Given the description of an element on the screen output the (x, y) to click on. 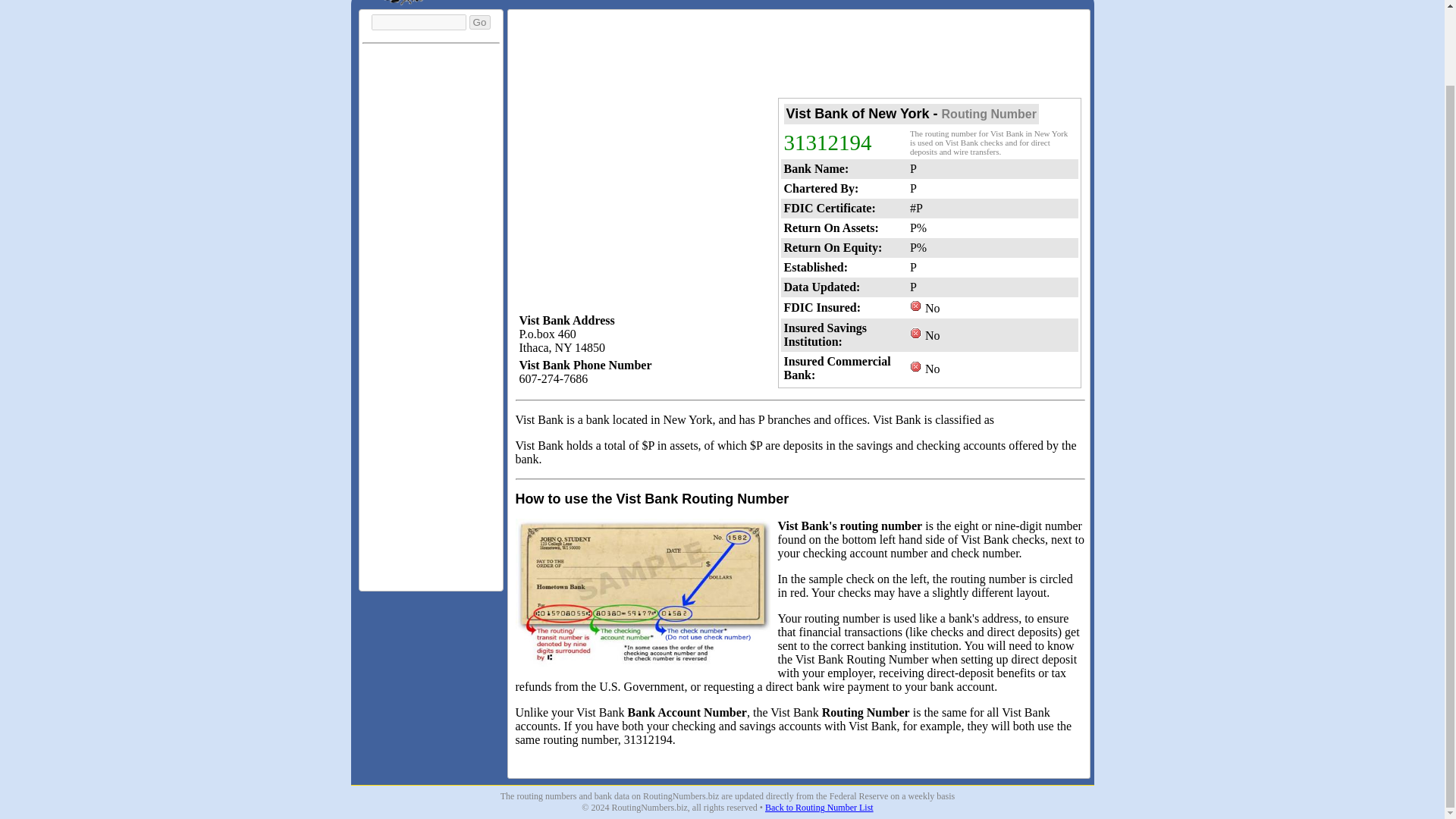
Advertisement (791, 759)
Go (478, 22)
Advertisement (430, 548)
Advertisement (798, 56)
Back to Routing Number List (819, 807)
ABA Routing Number List (819, 807)
Go (478, 22)
Advertisement (642, 203)
